Given the description of an element on the screen output the (x, y) to click on. 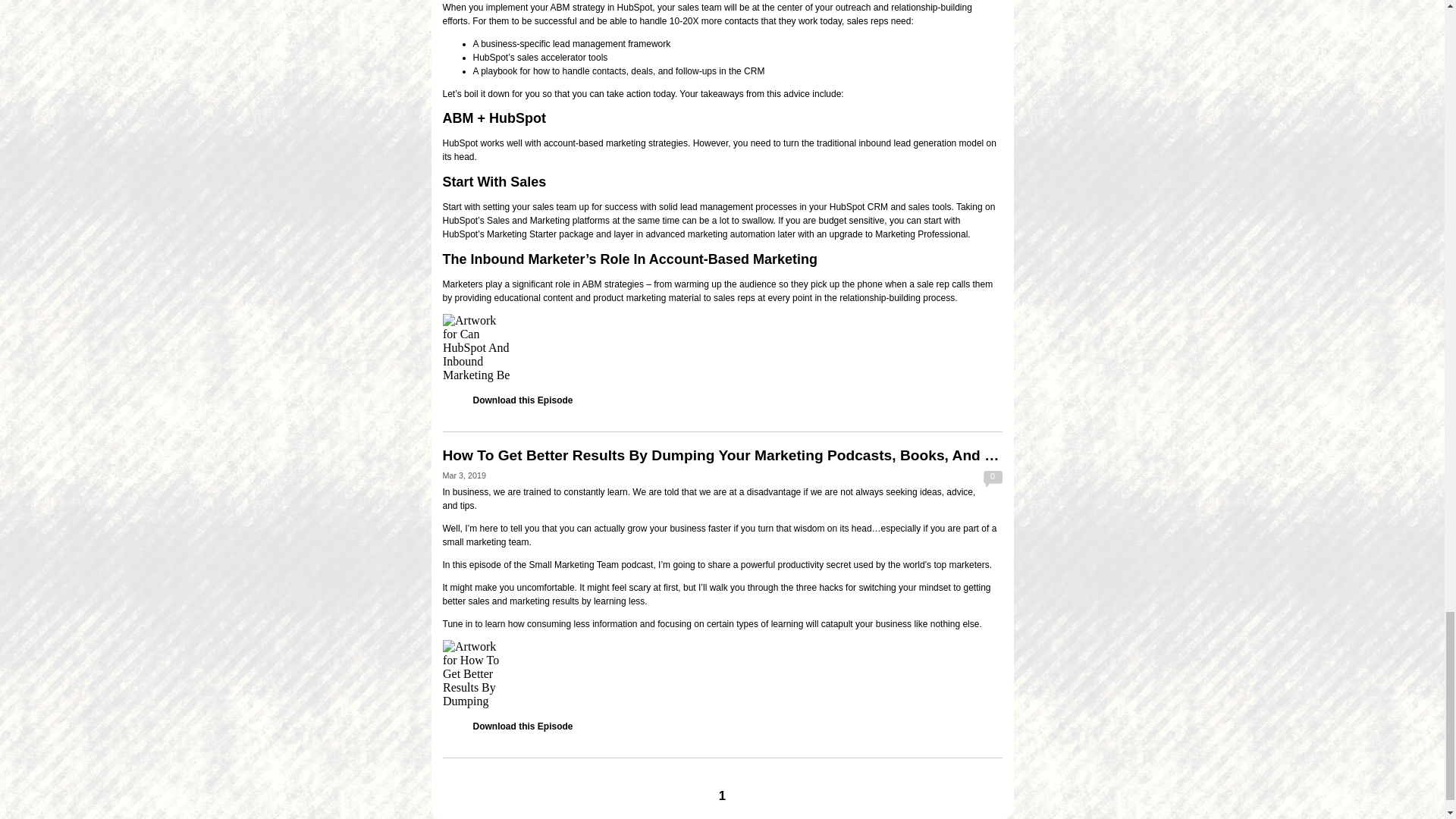
Libsyn Player (722, 347)
Libsyn Player (722, 673)
